Given the description of an element on the screen output the (x, y) to click on. 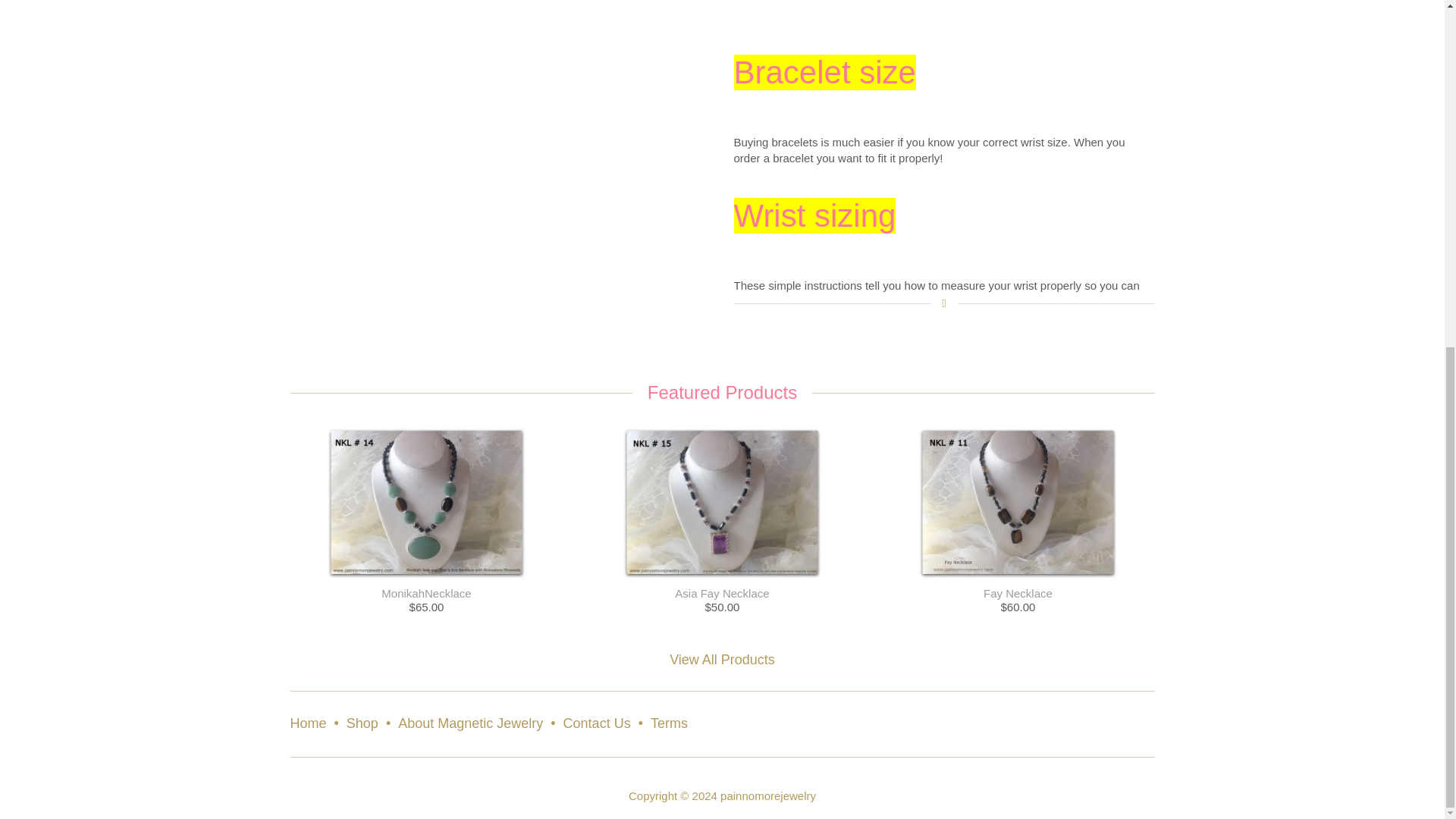
Fay Necklace (1017, 593)
Contact Us (596, 723)
Terms (668, 723)
MonikahNecklace (425, 593)
About Magnetic Jewelry (470, 723)
Shop (362, 723)
Asia Fay Necklace (722, 593)
View All Products (721, 659)
Home (307, 723)
